Given the description of an element on the screen output the (x, y) to click on. 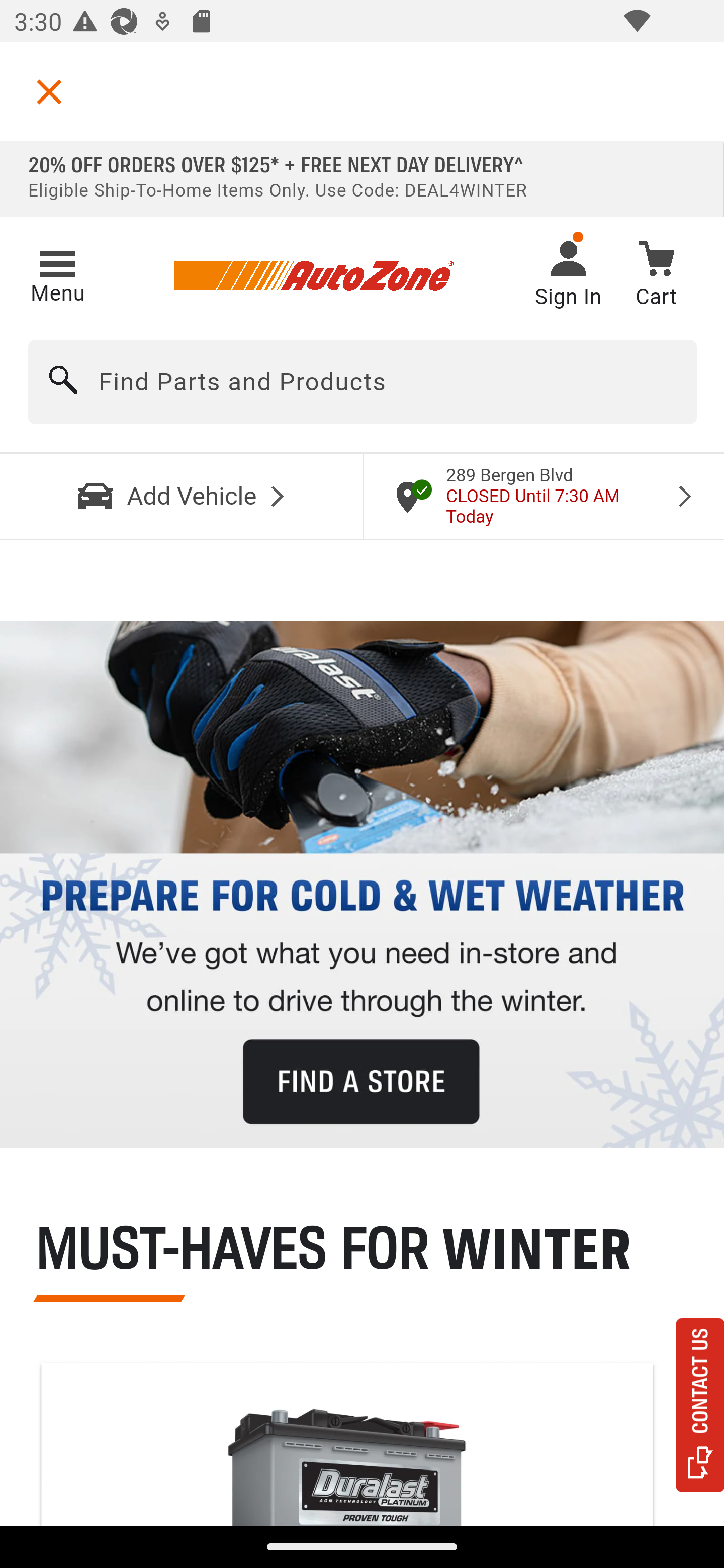
 (49, 91)
Menu (57, 273)
Sign In (567, 276)
AutoZone Logo (links to homepage) (312, 276)
shopping cart 0 items (655, 277)
Search (63, 382)
Add Vehicle (182, 495)
Contact Us (699, 1404)
